Given the description of an element on the screen output the (x, y) to click on. 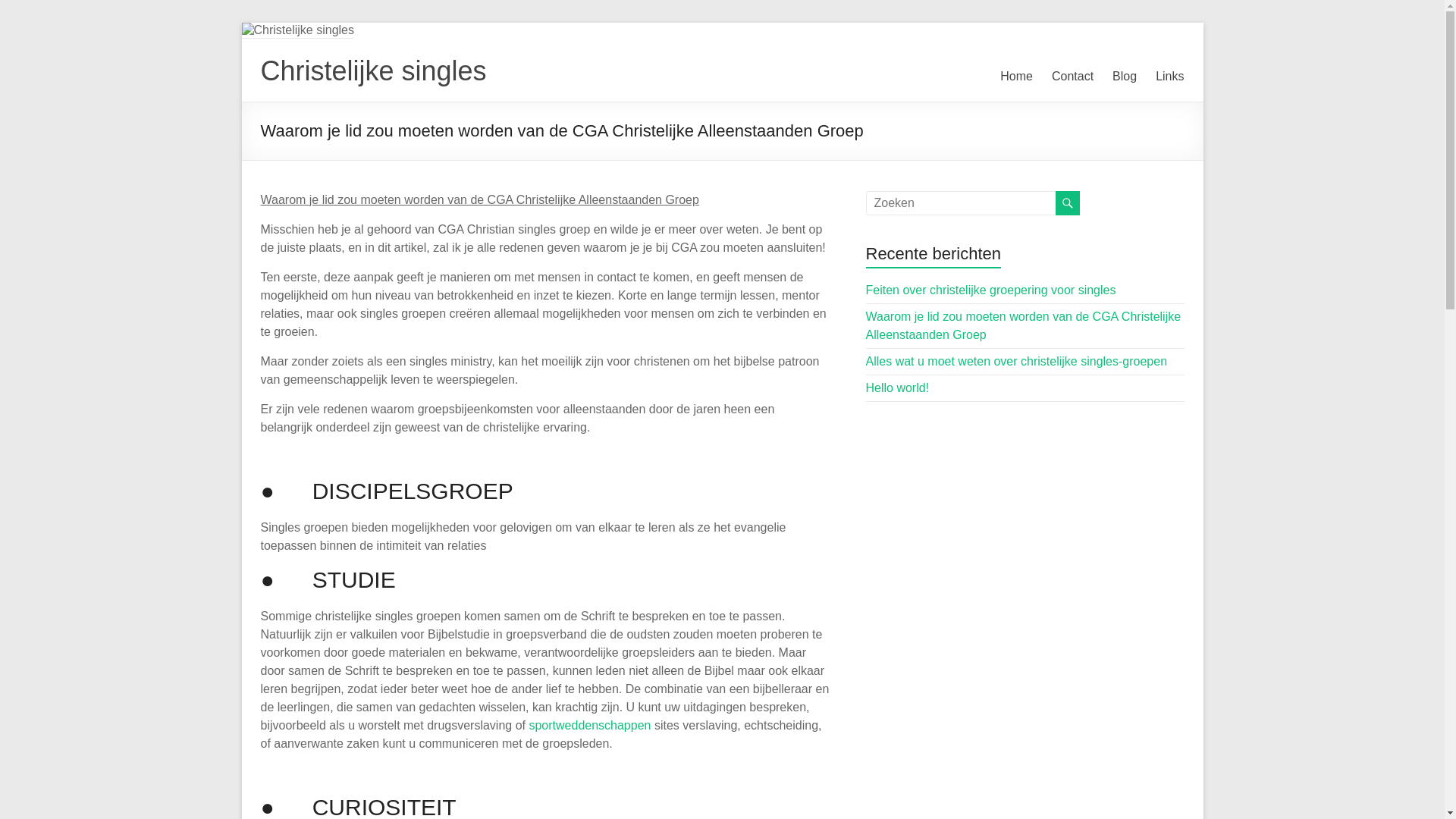
Blog Element type: text (1124, 76)
Christelijke singles Element type: text (373, 70)
Alles wat u moet weten over christelijke singles-groepen Element type: text (1016, 360)
sportweddenschappen Element type: text (589, 724)
Feiten over christelijke groepering voor singles Element type: text (991, 289)
Contact Element type: text (1072, 76)
Ga naar inhoud Element type: text (241, 21)
Links Element type: text (1169, 76)
Hello world! Element type: text (897, 387)
Home Element type: text (1016, 76)
